Given the description of an element on the screen output the (x, y) to click on. 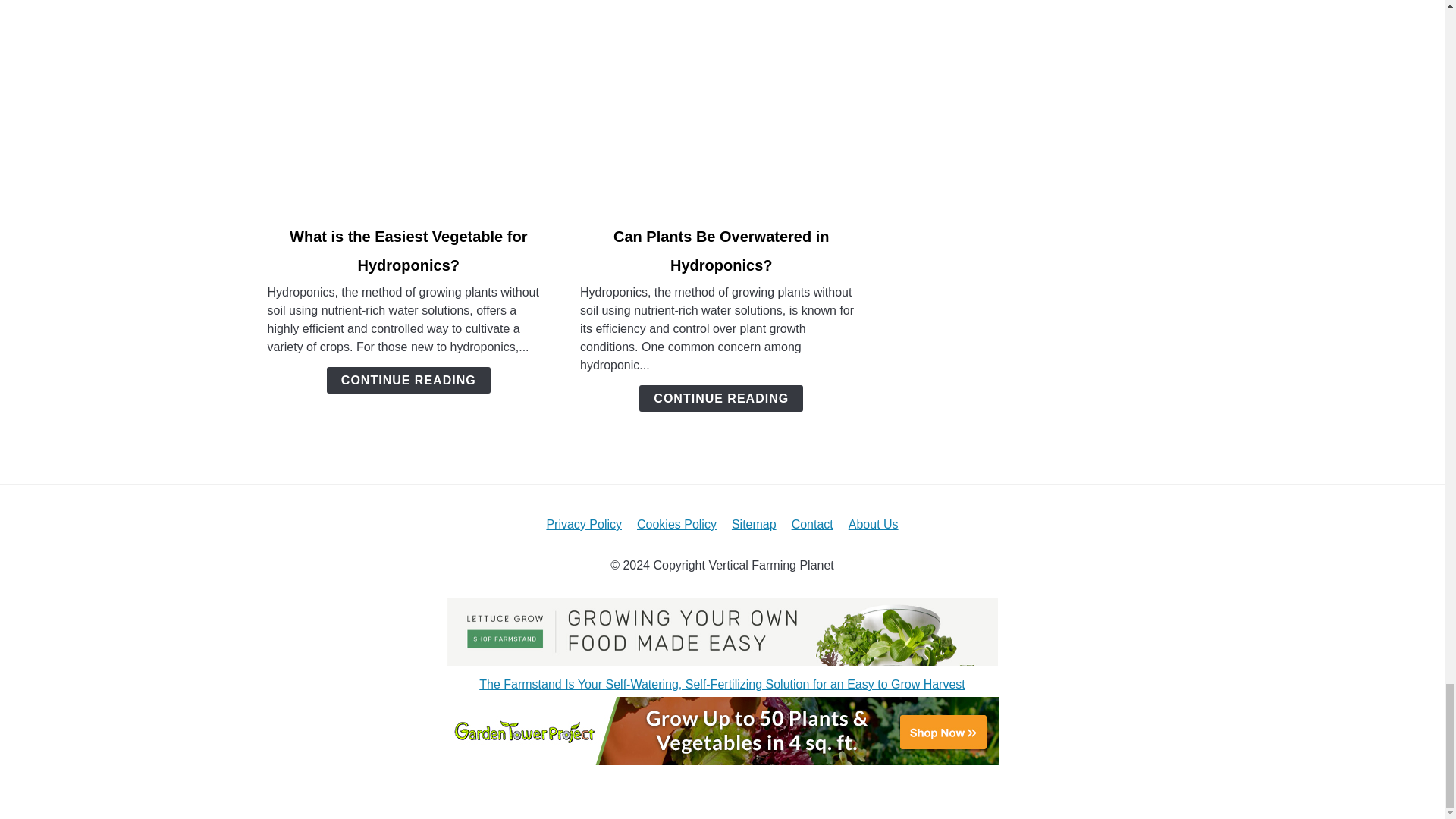
link to Can Plants Be Overwatered in Hydroponics? (721, 108)
What is the Easiest Vegetable for Hydroponics? (408, 250)
link to What is the Easiest Vegetable for Hydroponics? (408, 108)
Can Plants Be Overwatered in Hydroponics? (720, 250)
CONTINUE READING (408, 379)
CONTINUE READING (721, 397)
